Given the description of an element on the screen output the (x, y) to click on. 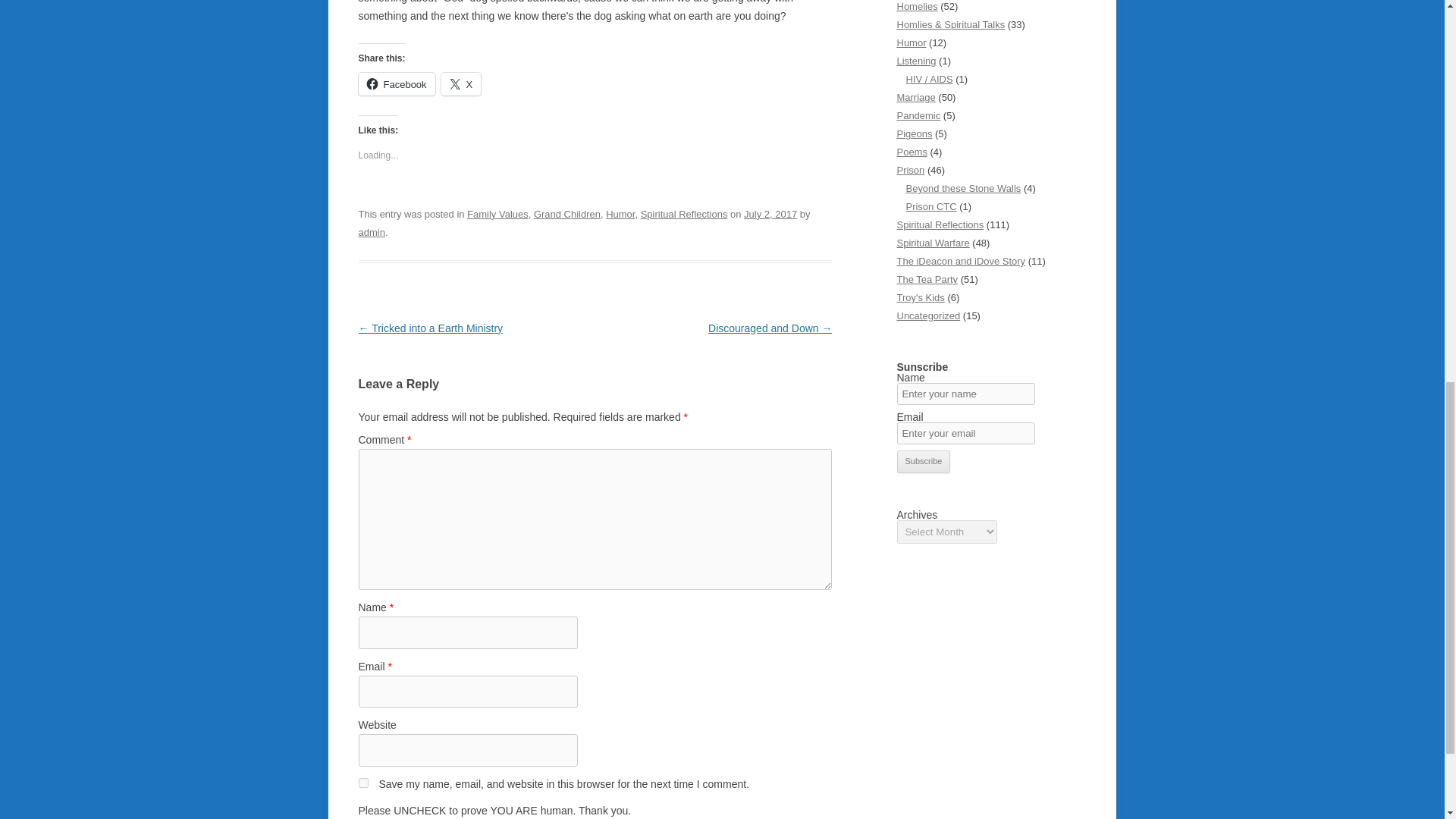
yes (363, 782)
Subscribe (923, 461)
admin (371, 232)
Facebook (395, 83)
Family Values (497, 214)
X (461, 83)
View all posts by admin (371, 232)
20:03 (770, 214)
July 2, 2017 (770, 214)
Spiritual Reflections (684, 214)
Grand Children (566, 214)
Click to share on X (461, 83)
Humor (619, 214)
Click to share on Facebook (395, 83)
